Given the description of an element on the screen output the (x, y) to click on. 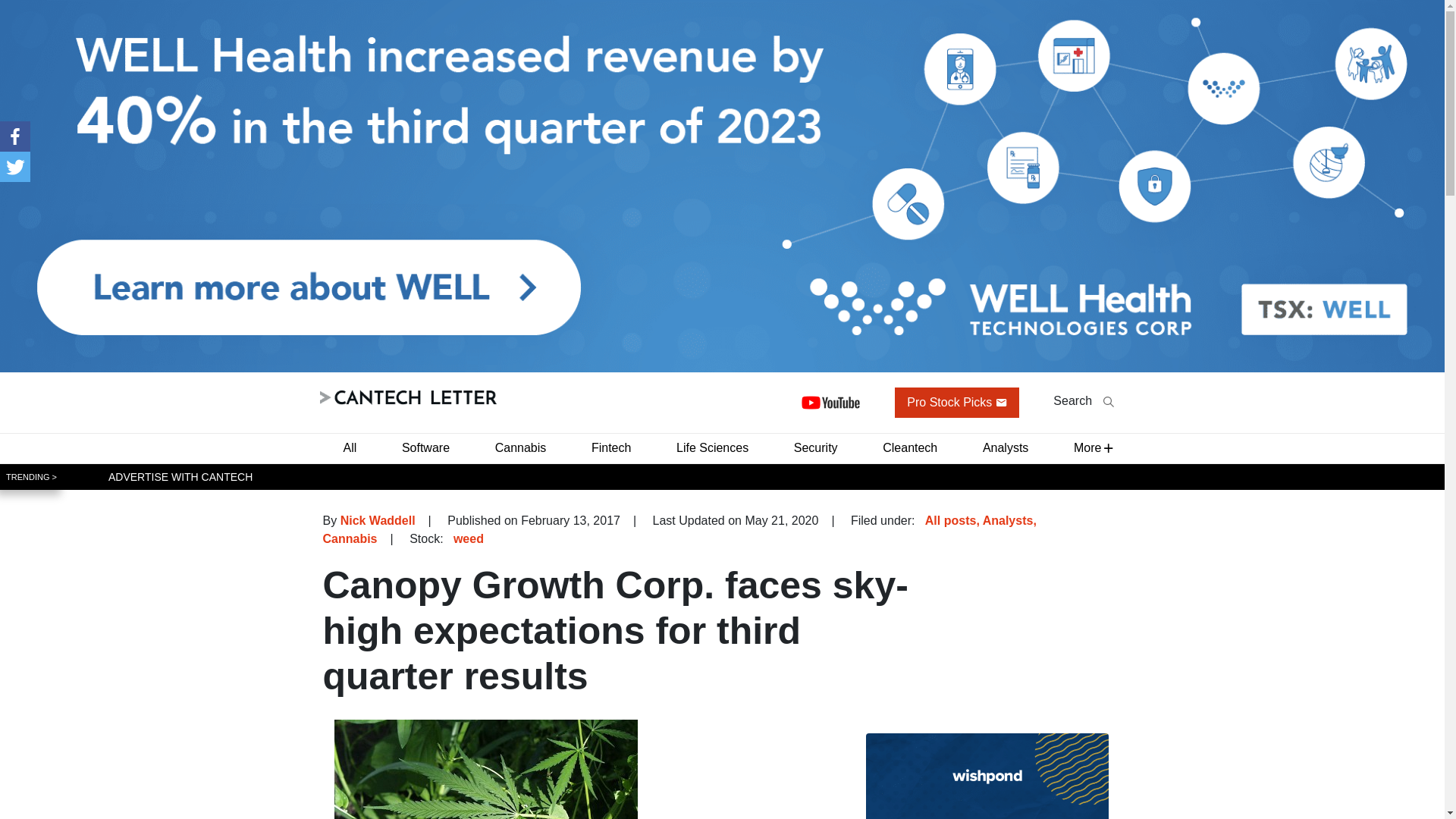
Nick Waddell (377, 520)
Twitter (15, 166)
Pro Stock Picks (957, 402)
Life Sciences (711, 447)
Facebook (15, 136)
All (349, 447)
Cannabis (521, 447)
ADVERTISE WITH CANTECH (180, 477)
More (1087, 447)
Analysts (1007, 520)
weed (467, 538)
Cannabis (350, 538)
Software (425, 447)
Fintech (611, 447)
Analysts (1006, 447)
